Given the description of an element on the screen output the (x, y) to click on. 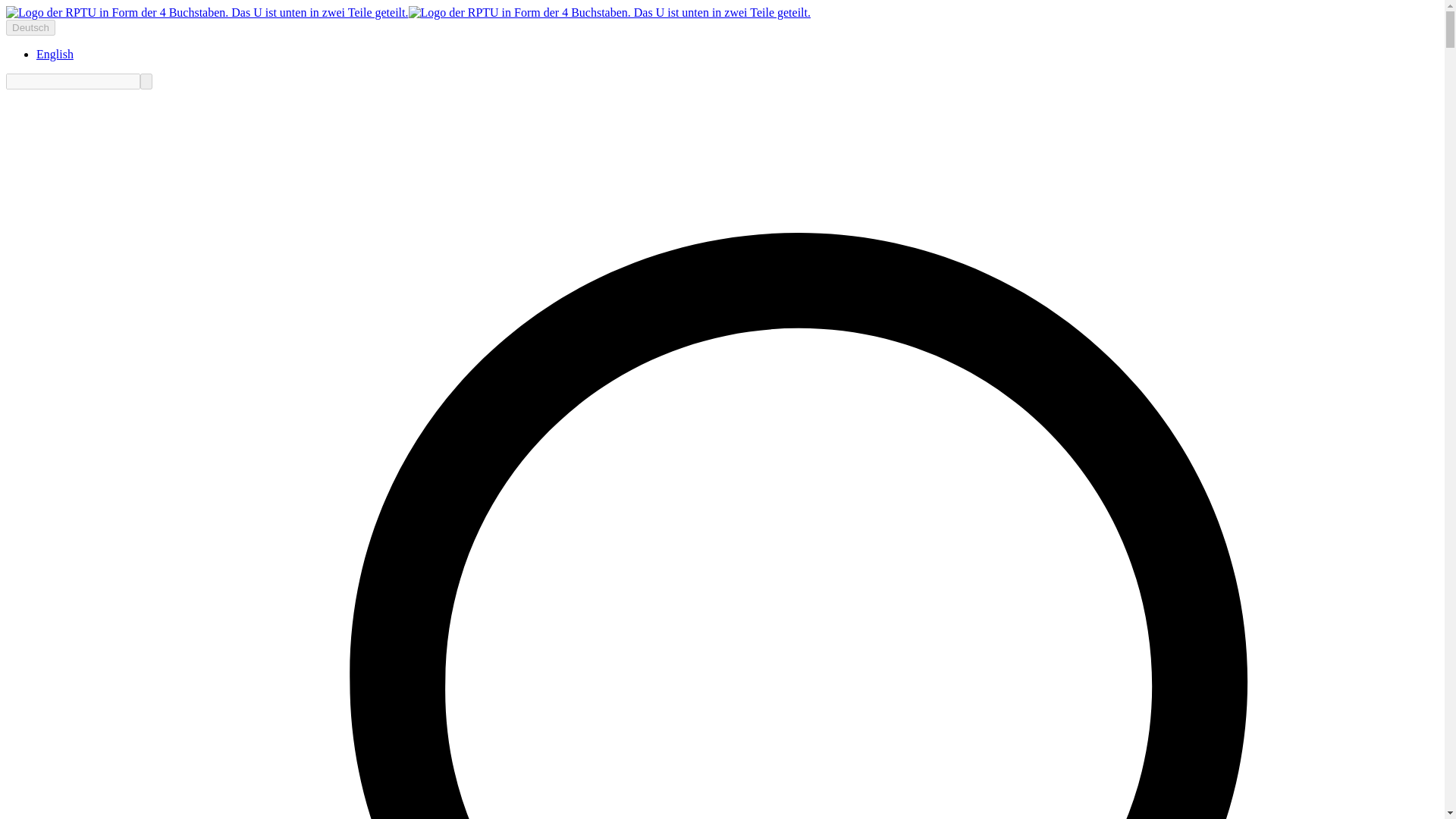
Deutsch (30, 27)
Zur Startseite der RPTU (407, 11)
English (55, 53)
Englisch (55, 53)
